Given the description of an element on the screen output the (x, y) to click on. 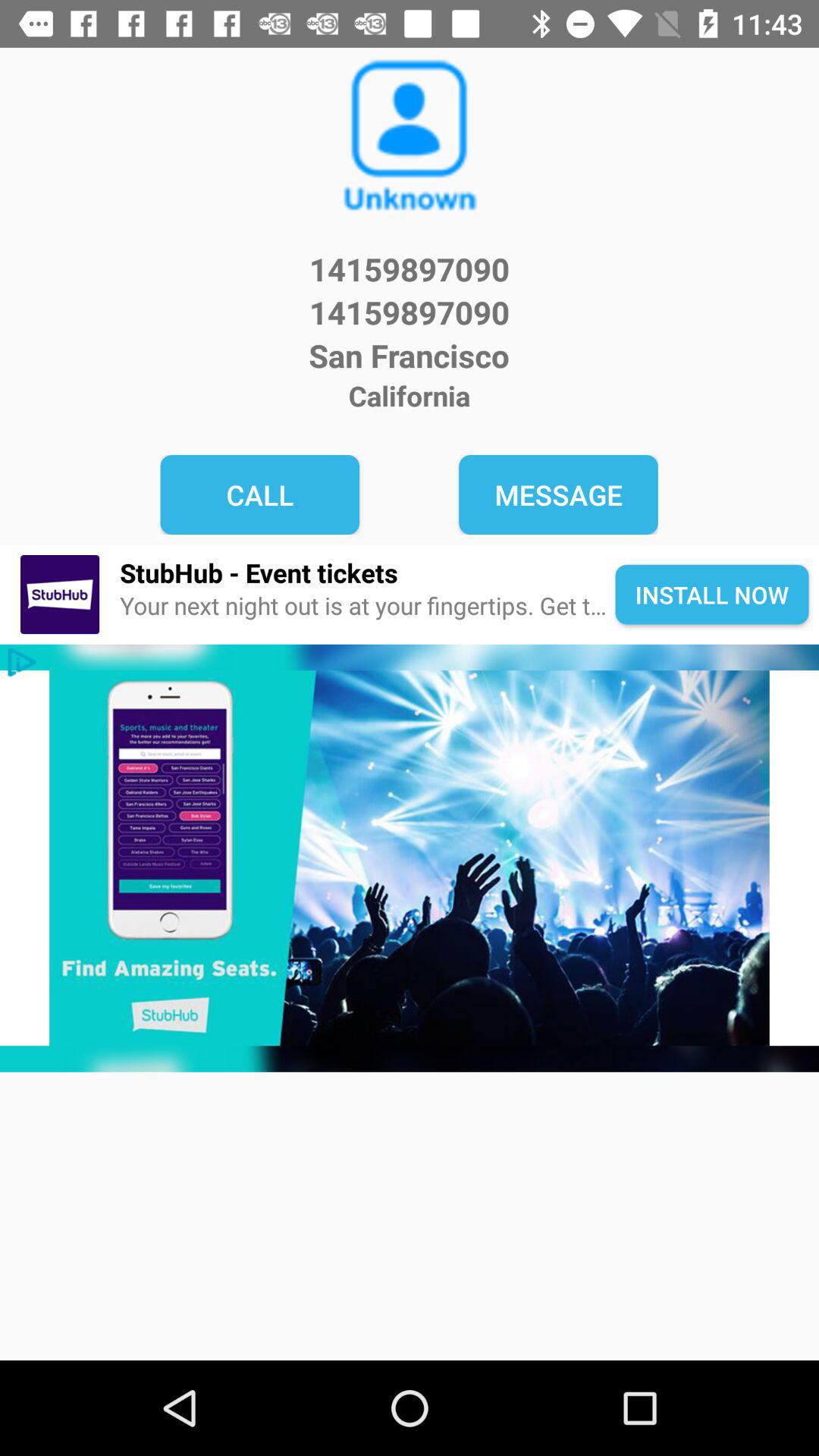
click the icon below the stubhub - event tickets icon (367, 606)
